Given the description of an element on the screen output the (x, y) to click on. 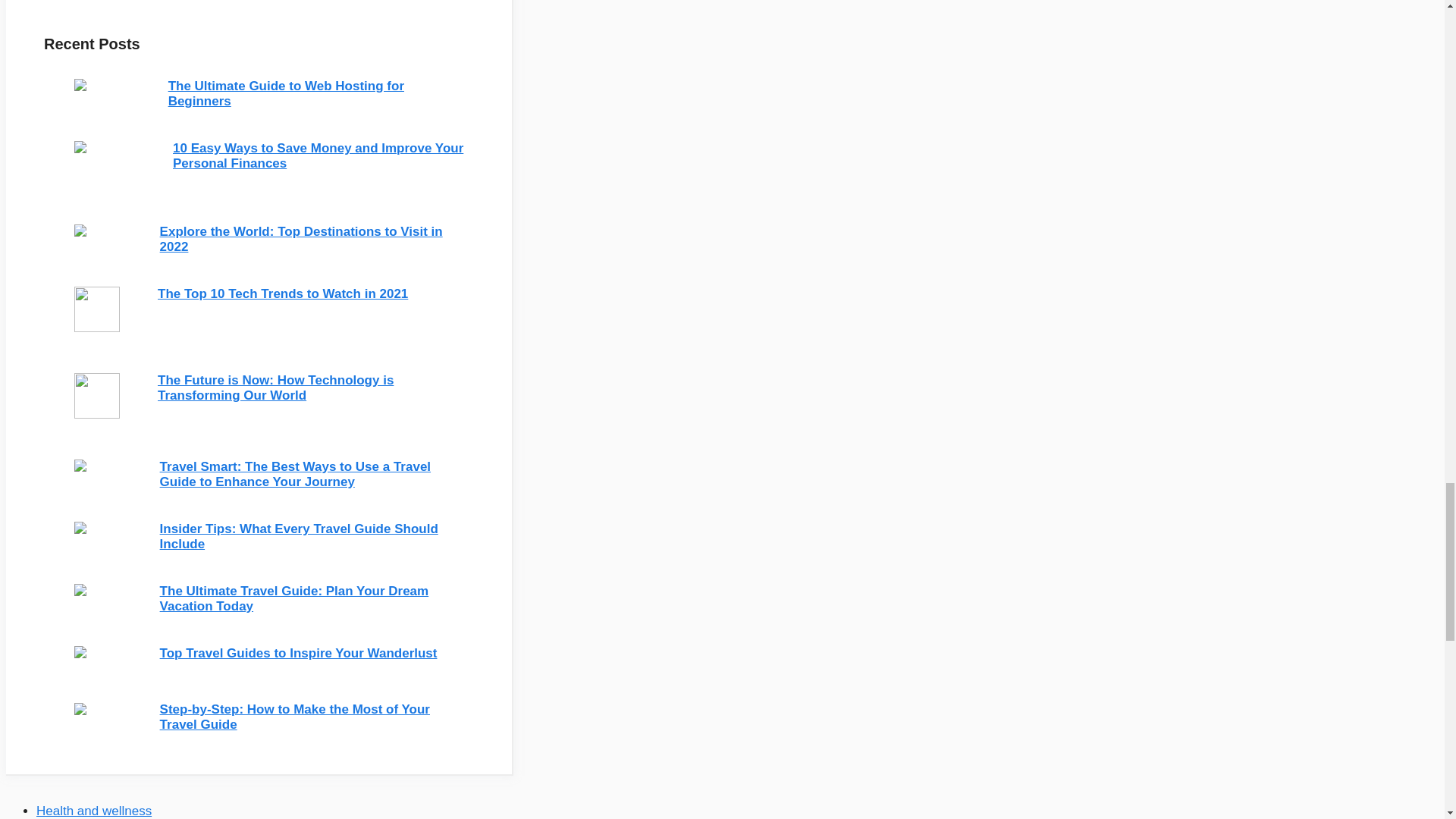
Explore the World: Top Destinations to Visit in 2022 (301, 238)
The Top 10 Tech Trends to Watch in 2021 (282, 293)
Top Travel Guides to Inspire Your Wanderlust (299, 653)
The Ultimate Guide to Web Hosting for Beginners (286, 93)
Health and wellness (93, 810)
Step-by-Step: How to Make the Most of Your Travel Guide (294, 716)
The Ultimate Travel Guide: Plan Your Dream Vacation Today (294, 598)
The Future is Now: How Technology is Transforming Our World (275, 387)
Insider Tips: What Every Travel Guide Should Include (299, 536)
